Given the description of an element on the screen output the (x, y) to click on. 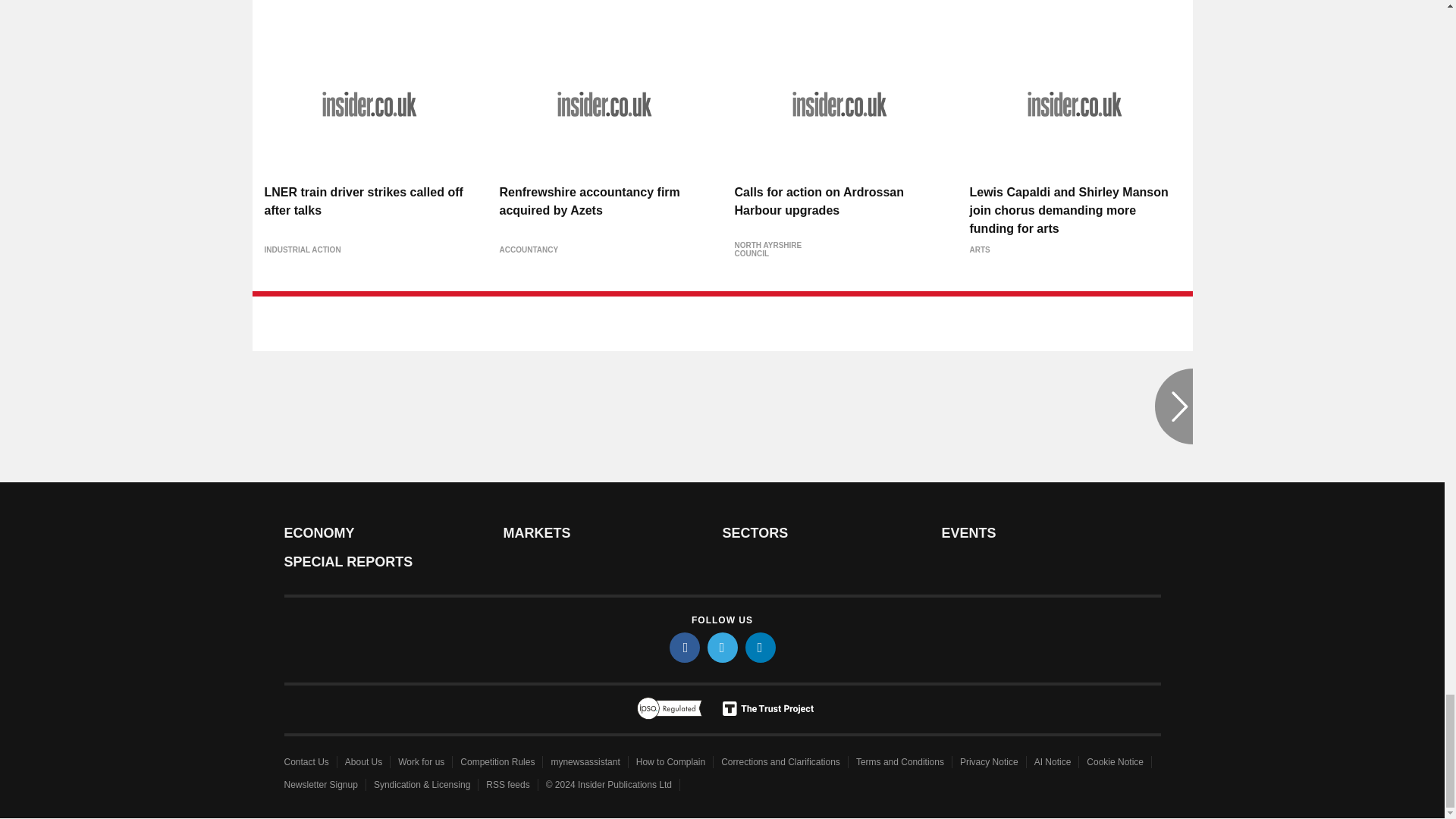
twitter (721, 647)
facebook (683, 647)
linkedin (759, 647)
